Given the description of an element on the screen output the (x, y) to click on. 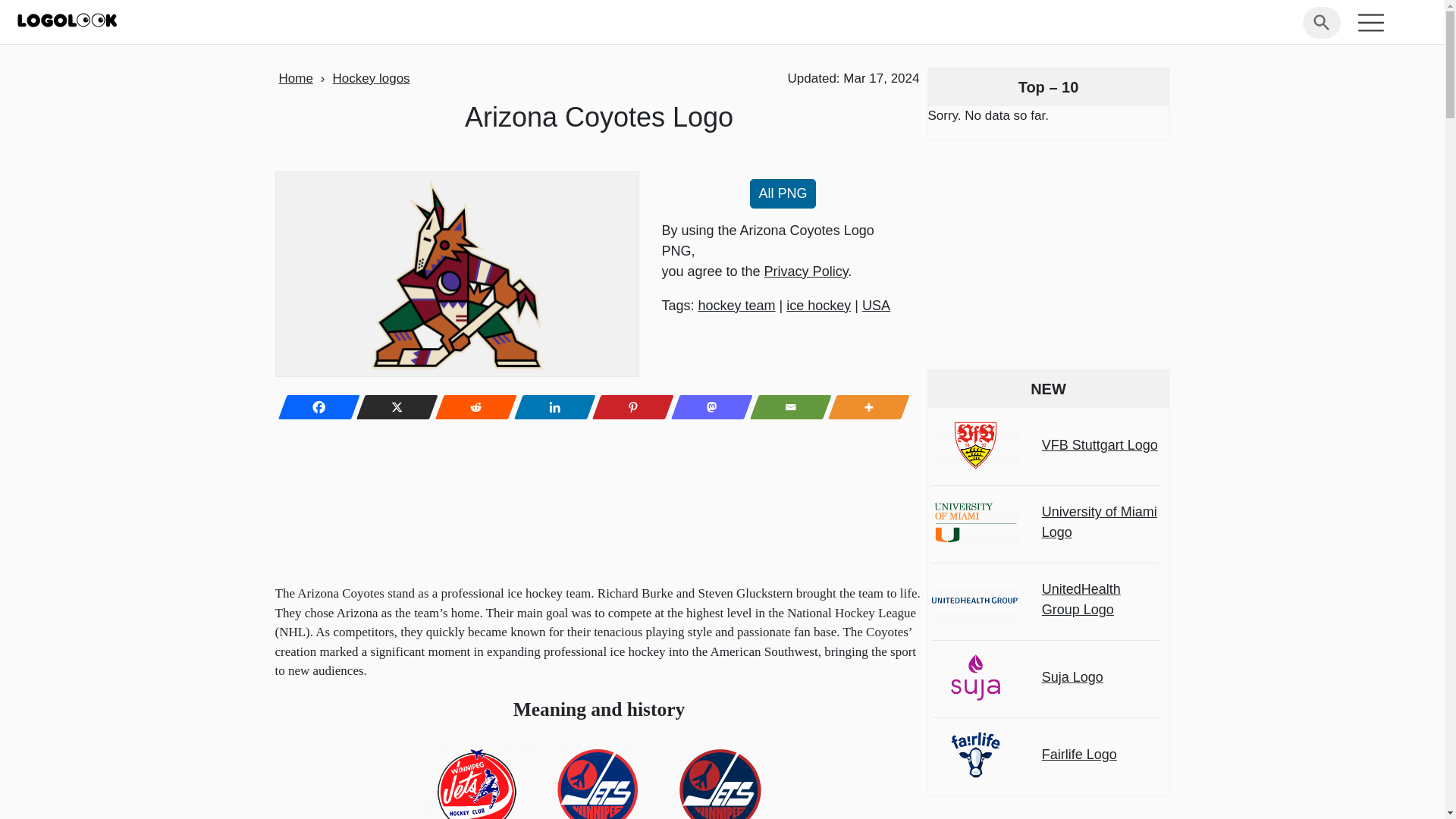
Facebook (314, 407)
Privacy Policy (806, 271)
Linkedin (549, 407)
More (864, 407)
hockey team (737, 305)
Reddit (471, 407)
USA (875, 305)
Email (785, 407)
X (392, 407)
ice hockey (818, 305)
Home (296, 78)
Hockey logos (371, 78)
Pinterest (628, 407)
Mastodon (707, 407)
All PNG (782, 193)
